Given the description of an element on the screen output the (x, y) to click on. 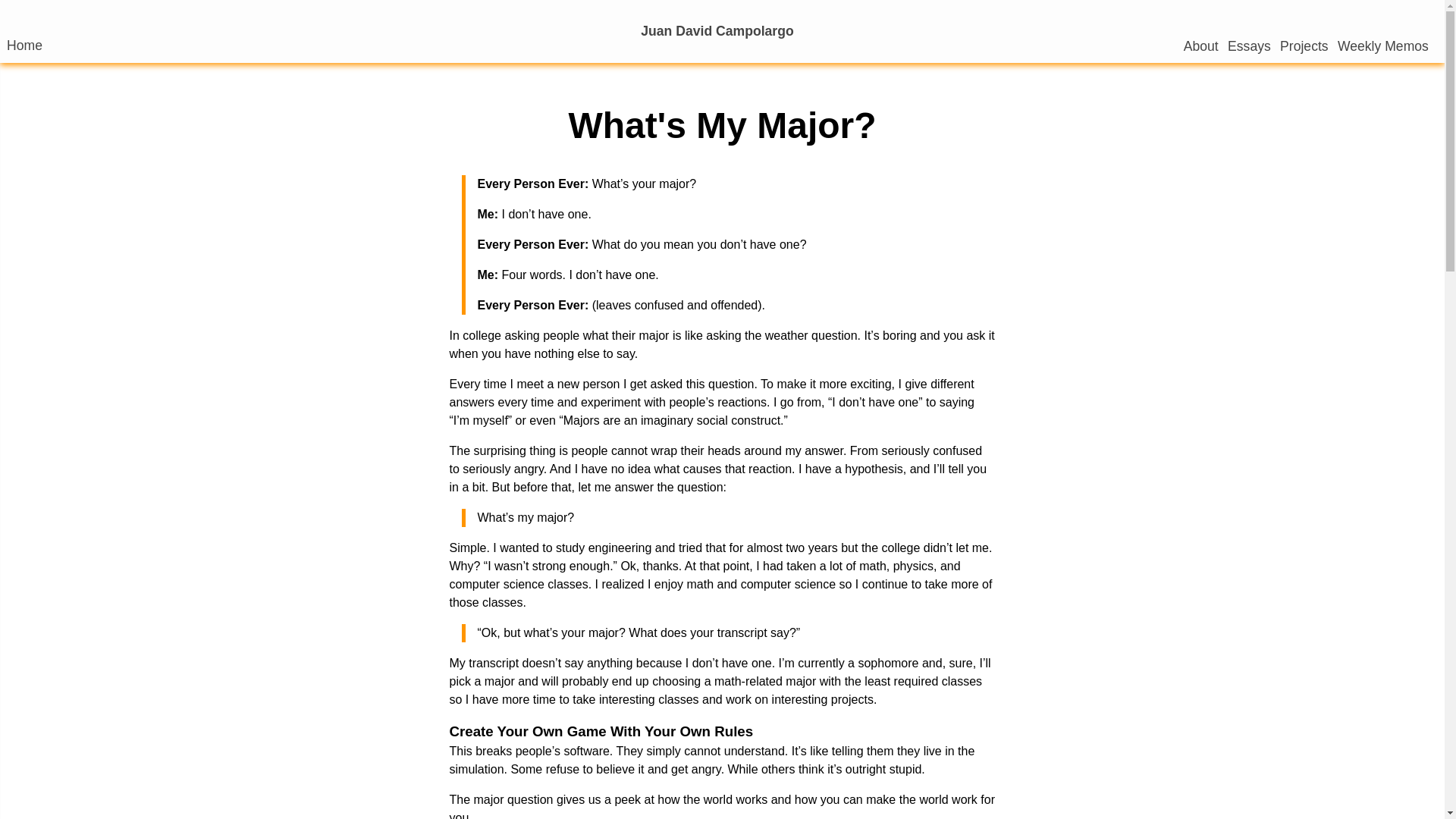
Essays (1249, 46)
Juan David Campolargo (718, 31)
Weekly Memos (1383, 46)
Projects (1303, 46)
About (1200, 46)
